Given the description of an element on the screen output the (x, y) to click on. 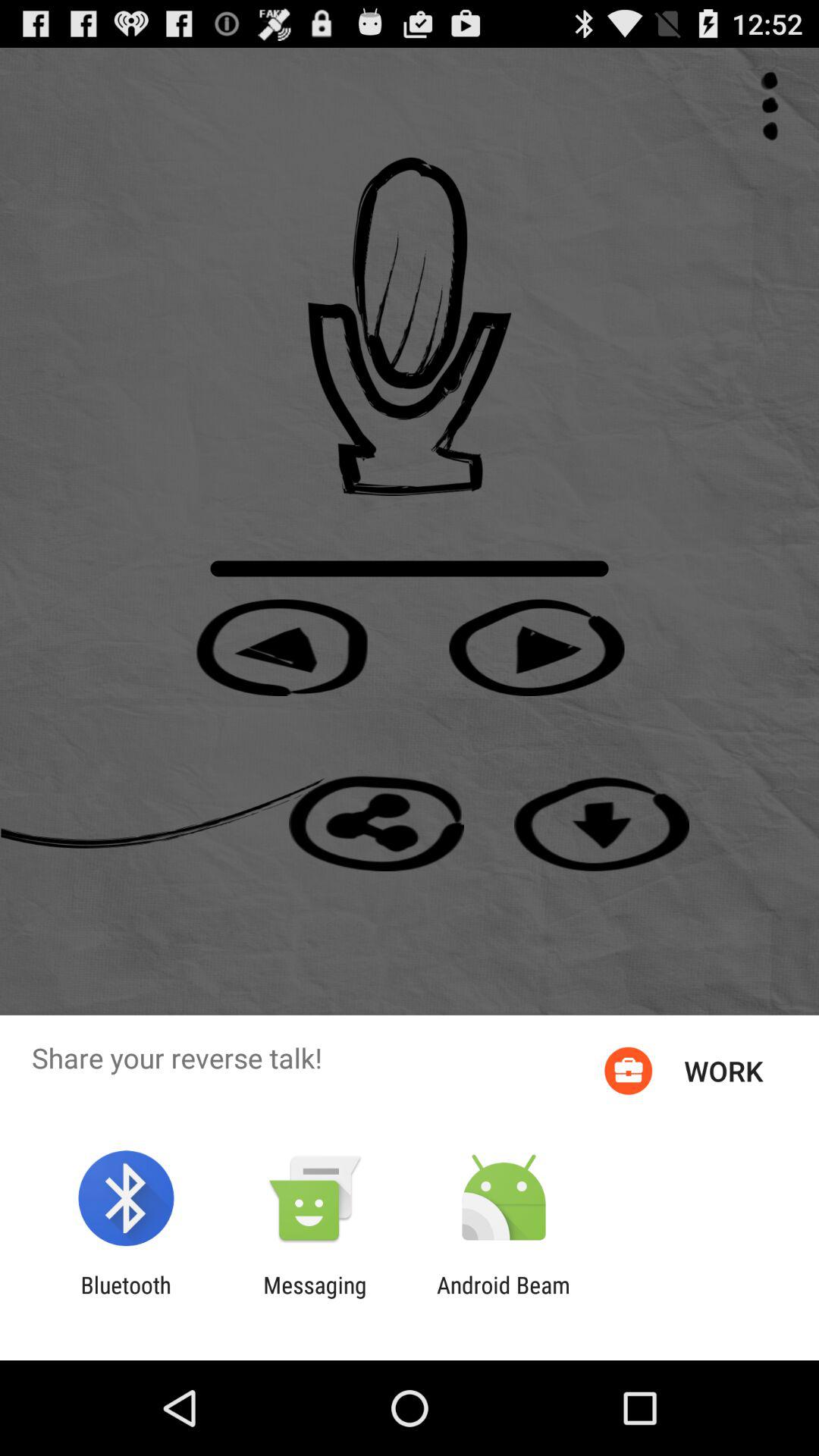
launch item next to the bluetooth (314, 1298)
